Given the description of an element on the screen output the (x, y) to click on. 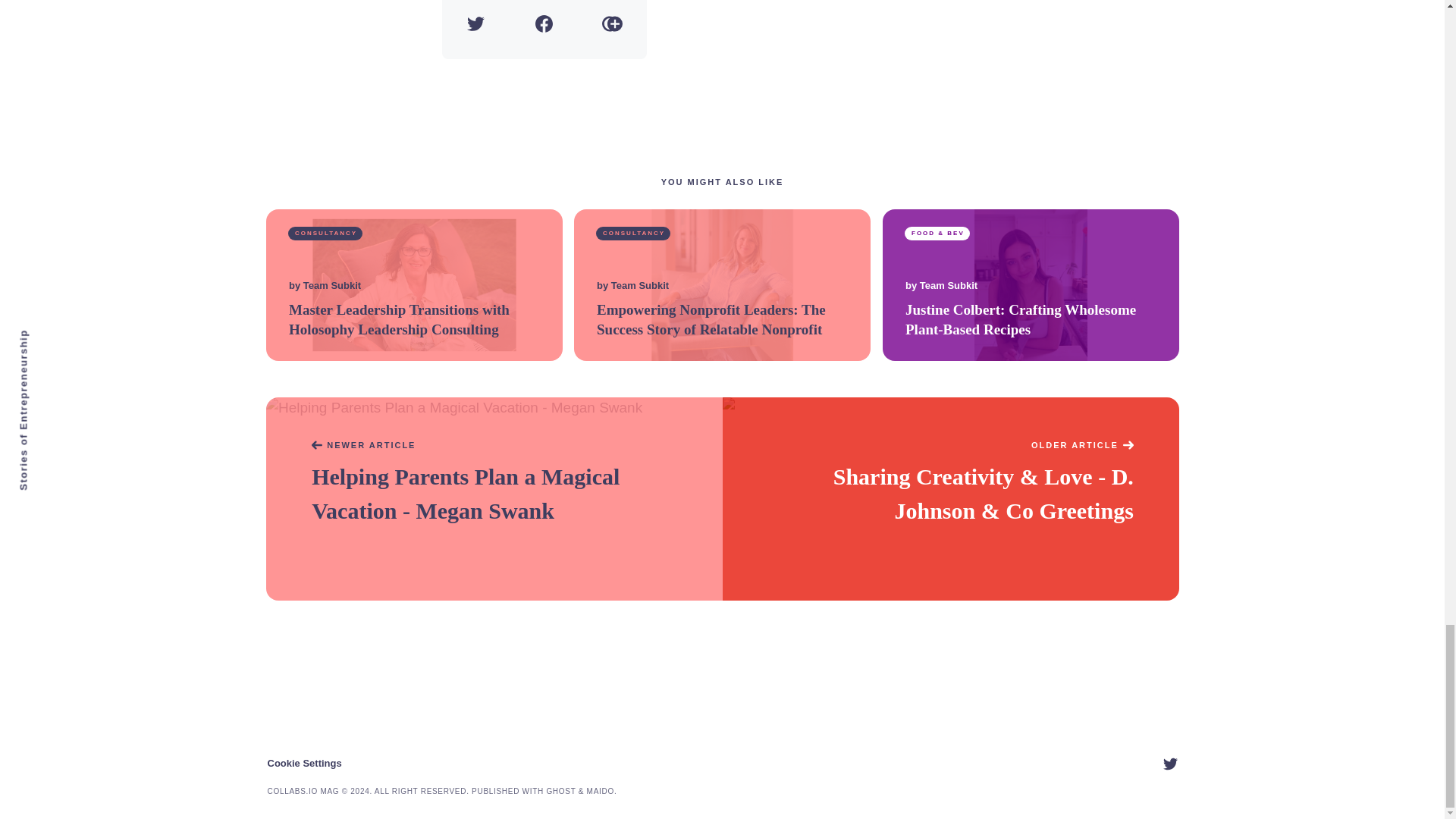
COLLABS.IO MAG (302, 791)
Team Subkit (639, 286)
Cookie Settings (303, 763)
Team Subkit (948, 286)
MAIDO (600, 791)
GHOST (560, 791)
Team Subkit (330, 286)
